Given the description of an element on the screen output the (x, y) to click on. 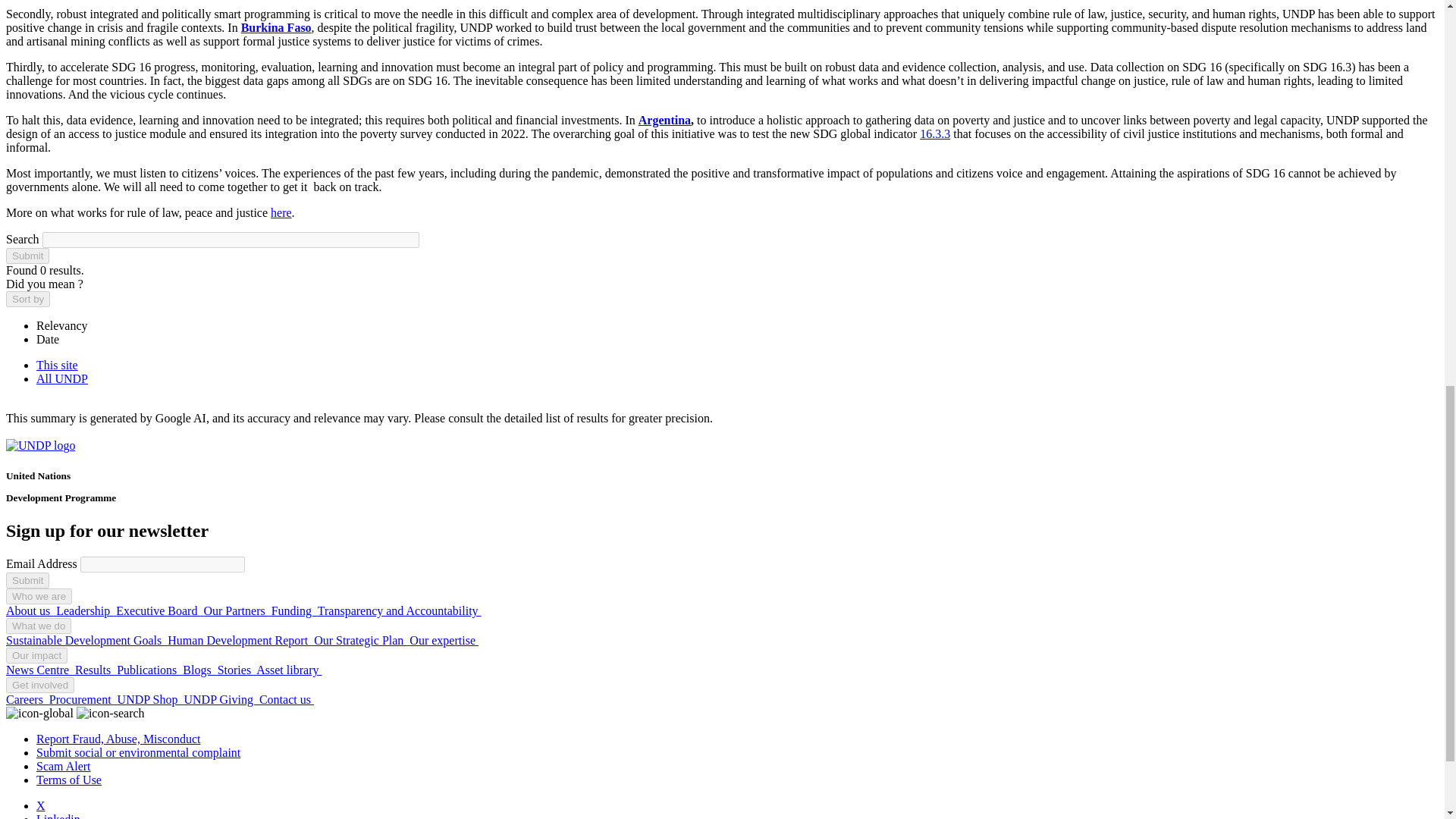
Who we are (38, 596)
About us (30, 610)
Linkedin (58, 816)
16.3.3 (935, 133)
here (281, 212)
Executive Board (159, 610)
Burkina Faso (276, 27)
Leadership (86, 610)
Submit (27, 580)
Sort by (27, 299)
